Given the description of an element on the screen output the (x, y) to click on. 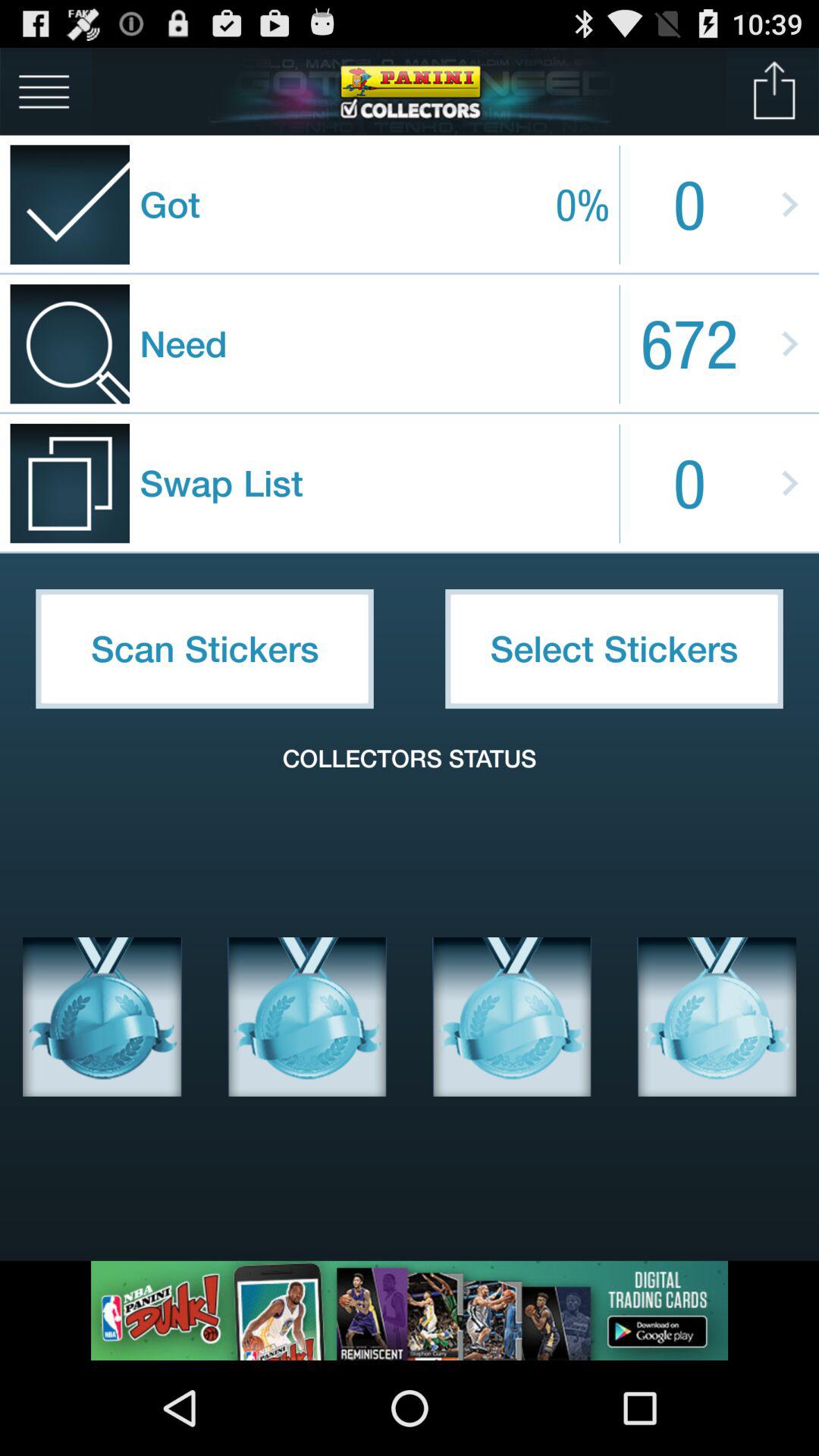
choose the item to the right of the 0% icon (774, 91)
